Given the description of an element on the screen output the (x, y) to click on. 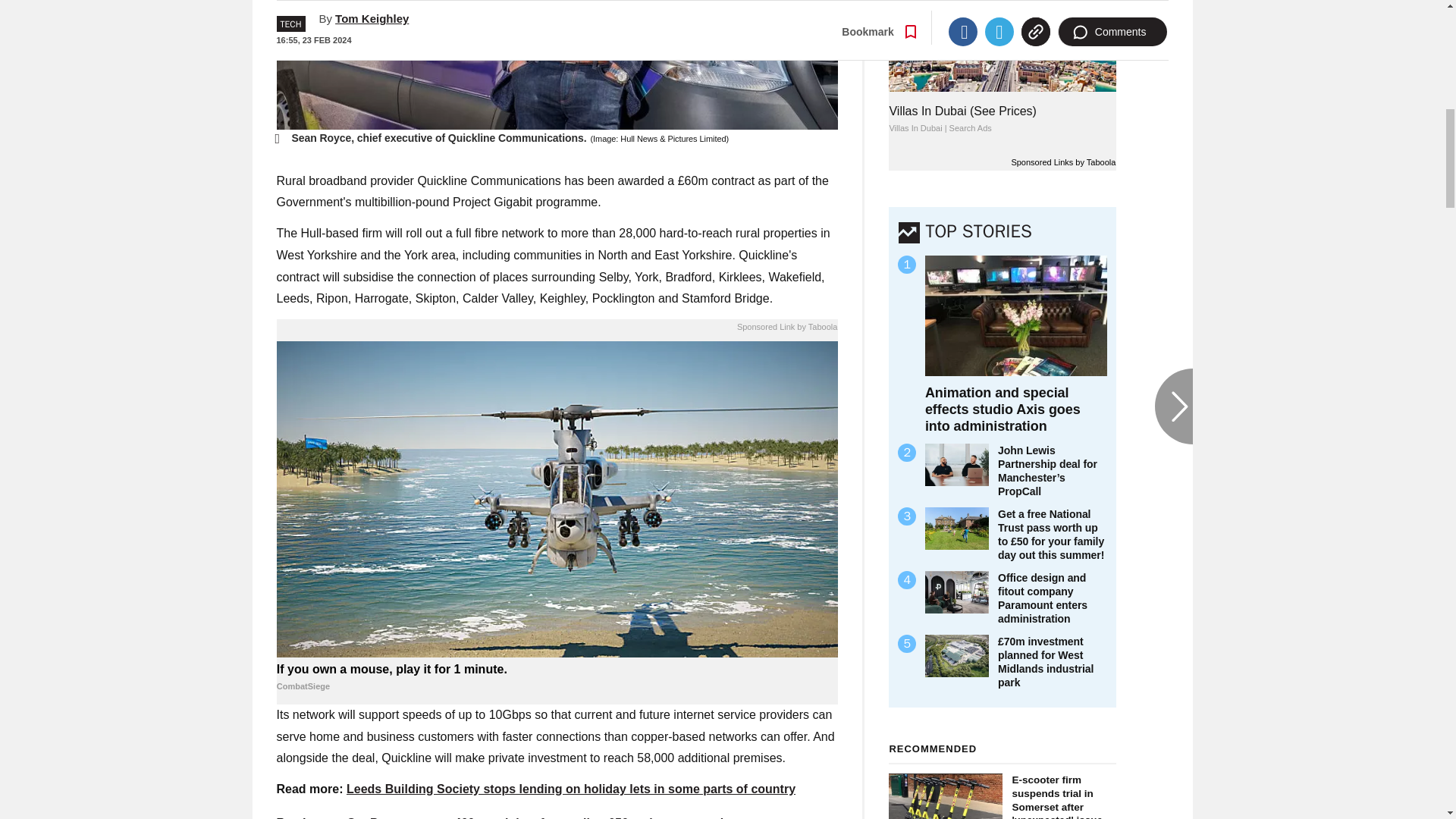
If you own a mouse, play it for 1 minute. (557, 677)
